Given the description of an element on the screen output the (x, y) to click on. 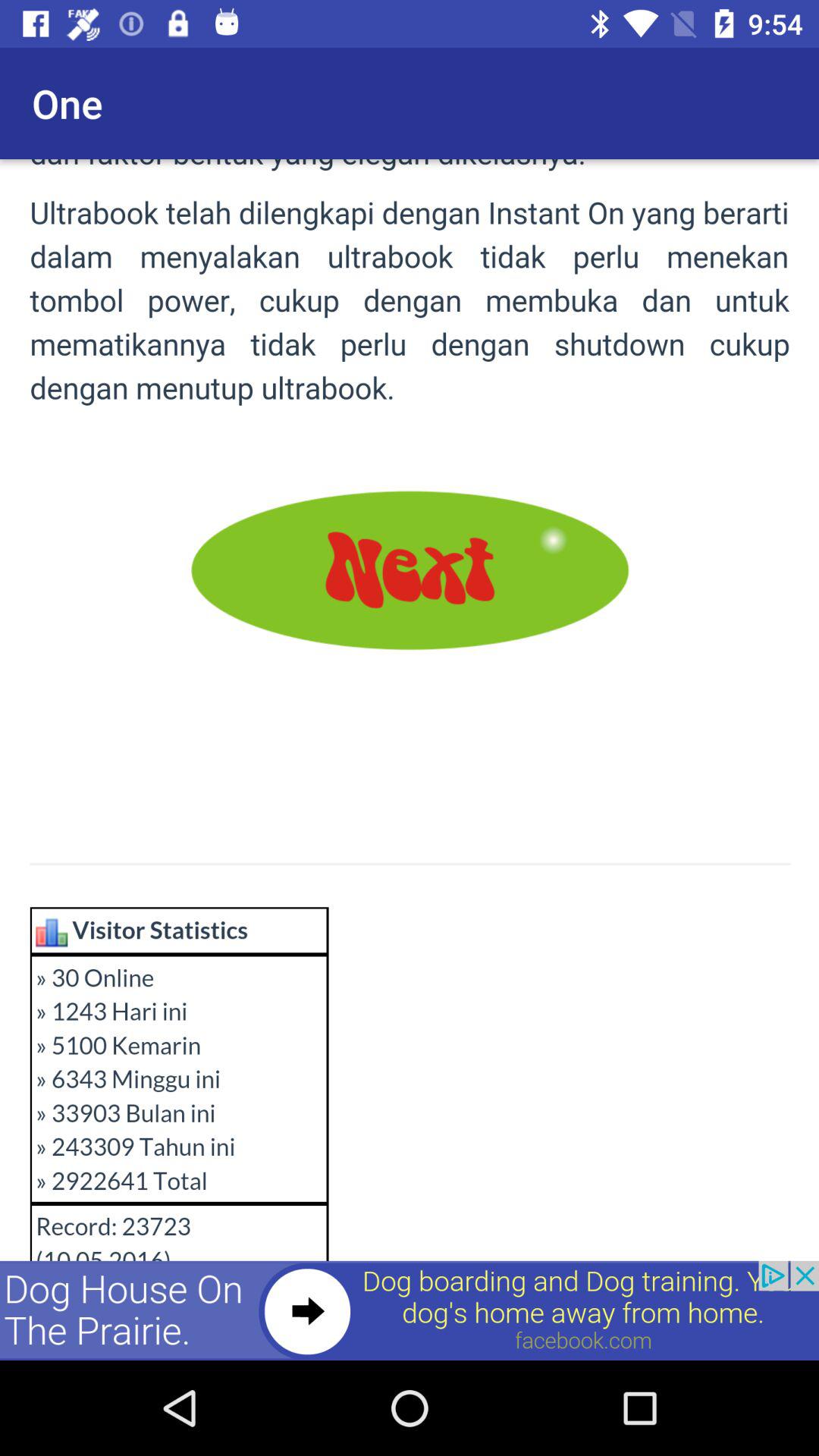
main screen (409, 759)
